Given the description of an element on the screen output the (x, y) to click on. 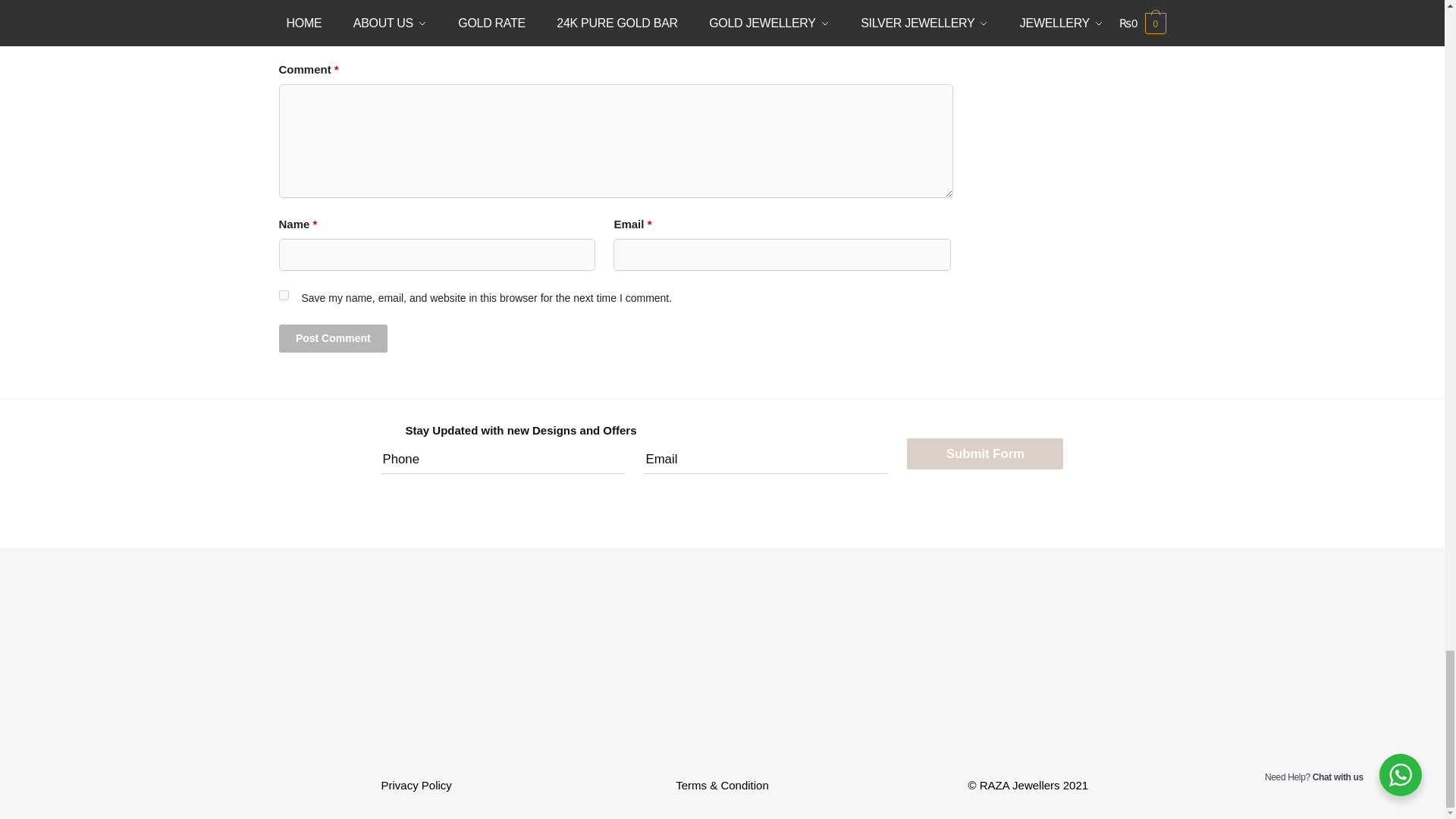
yes (283, 295)
Post Comment (333, 338)
